Given the description of an element on the screen output the (x, y) to click on. 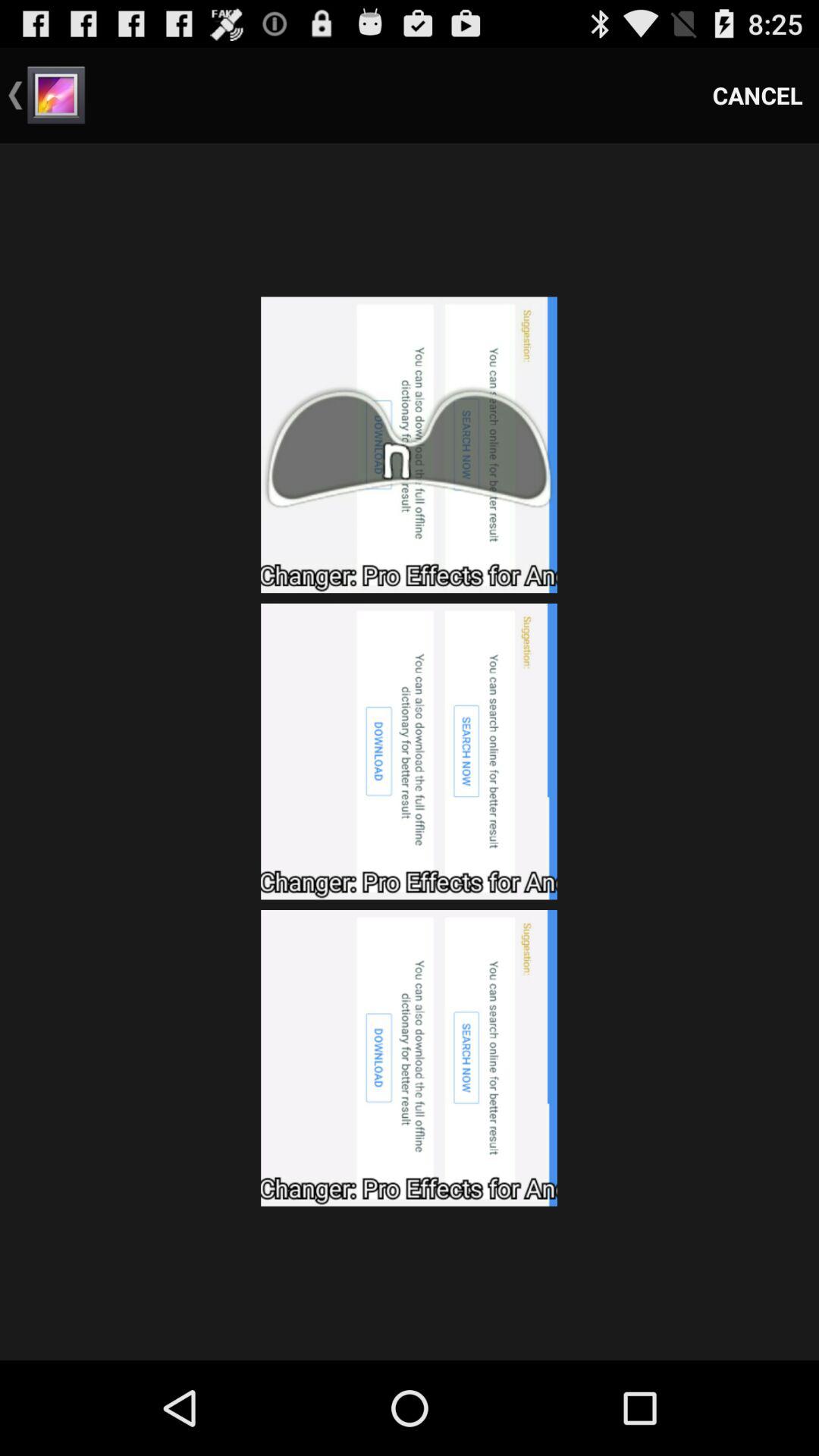
launch cancel (757, 95)
